Given the description of an element on the screen output the (x, y) to click on. 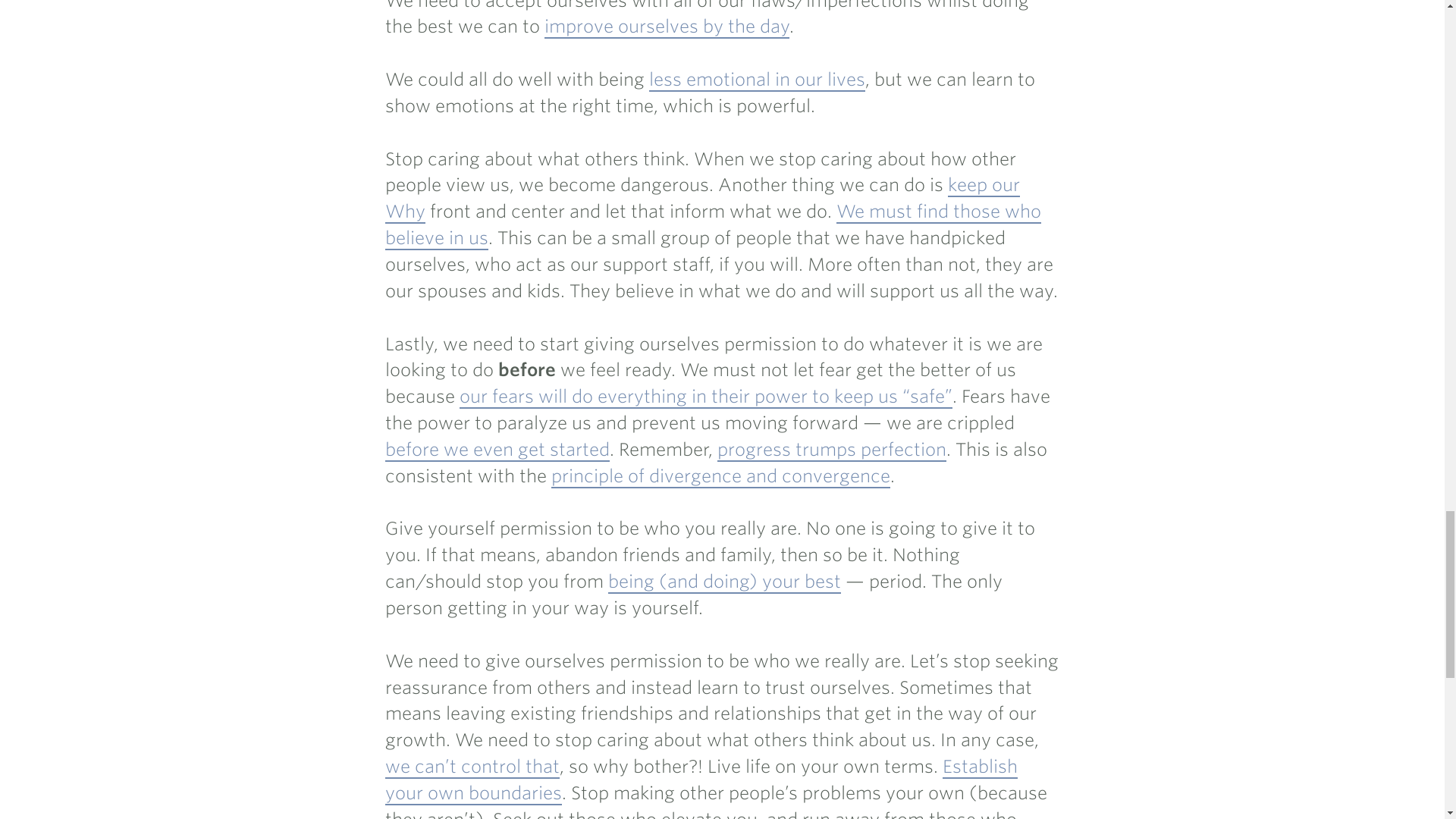
before we even get started (497, 449)
principle of divergence and convergence (720, 477)
progress trumps perfection (831, 449)
keep our Why (702, 198)
Establish your own boundaries (701, 780)
We must find those who believe in us (713, 225)
less emotional in our lives (756, 79)
improve ourselves by the day (666, 26)
